Given the description of an element on the screen output the (x, y) to click on. 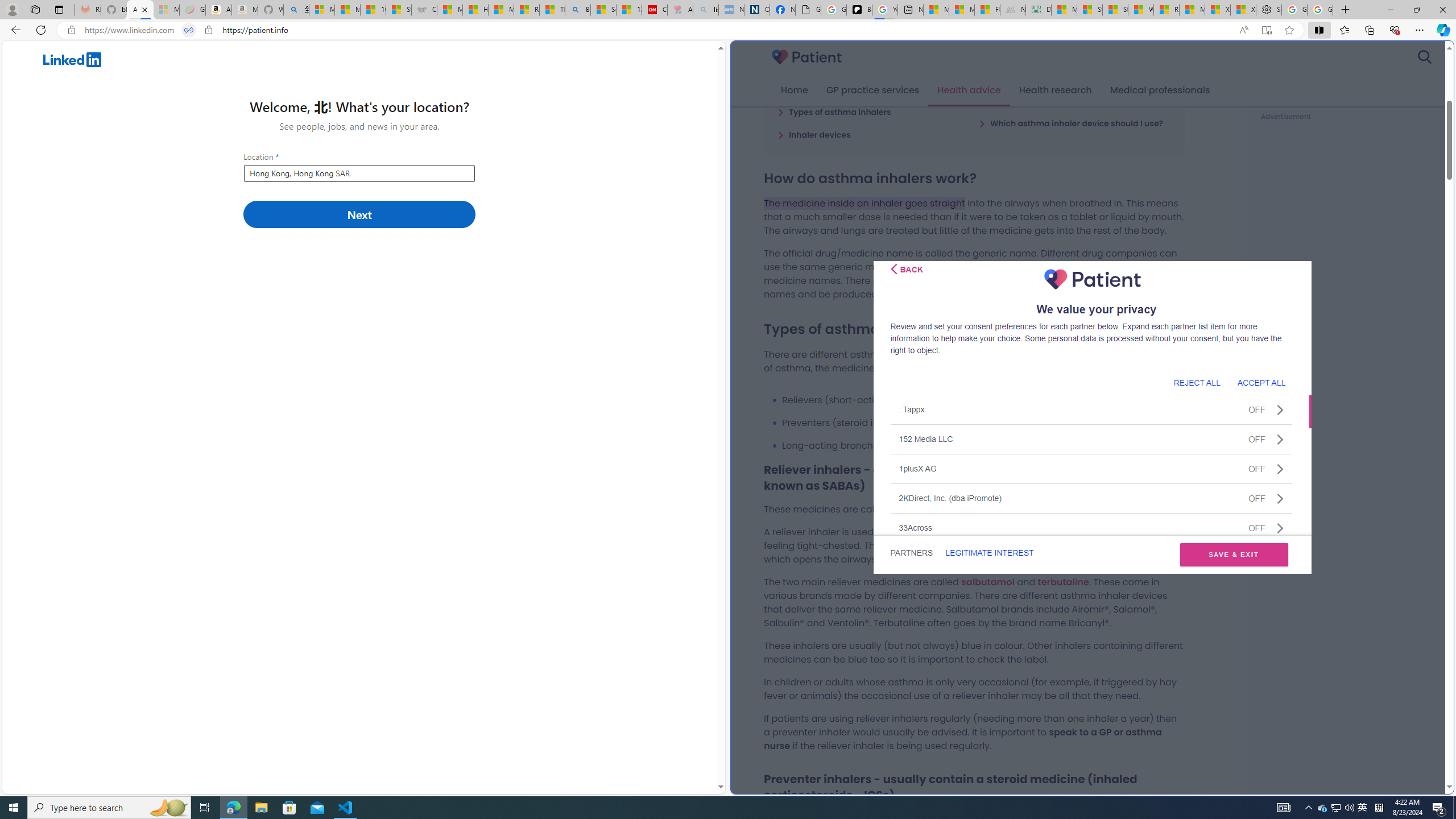
Arthritis: Ask Health Professionals - Sleeping (679, 9)
GP practice services (872, 90)
ACCEPT ALL (1261, 382)
GP practice services (872, 90)
Medical professionals (1160, 90)
terbutaline (1062, 581)
R******* | Trusted Community Engagement and Contributions (1165, 9)
search (1424, 56)
